Given the description of an element on the screen output the (x, y) to click on. 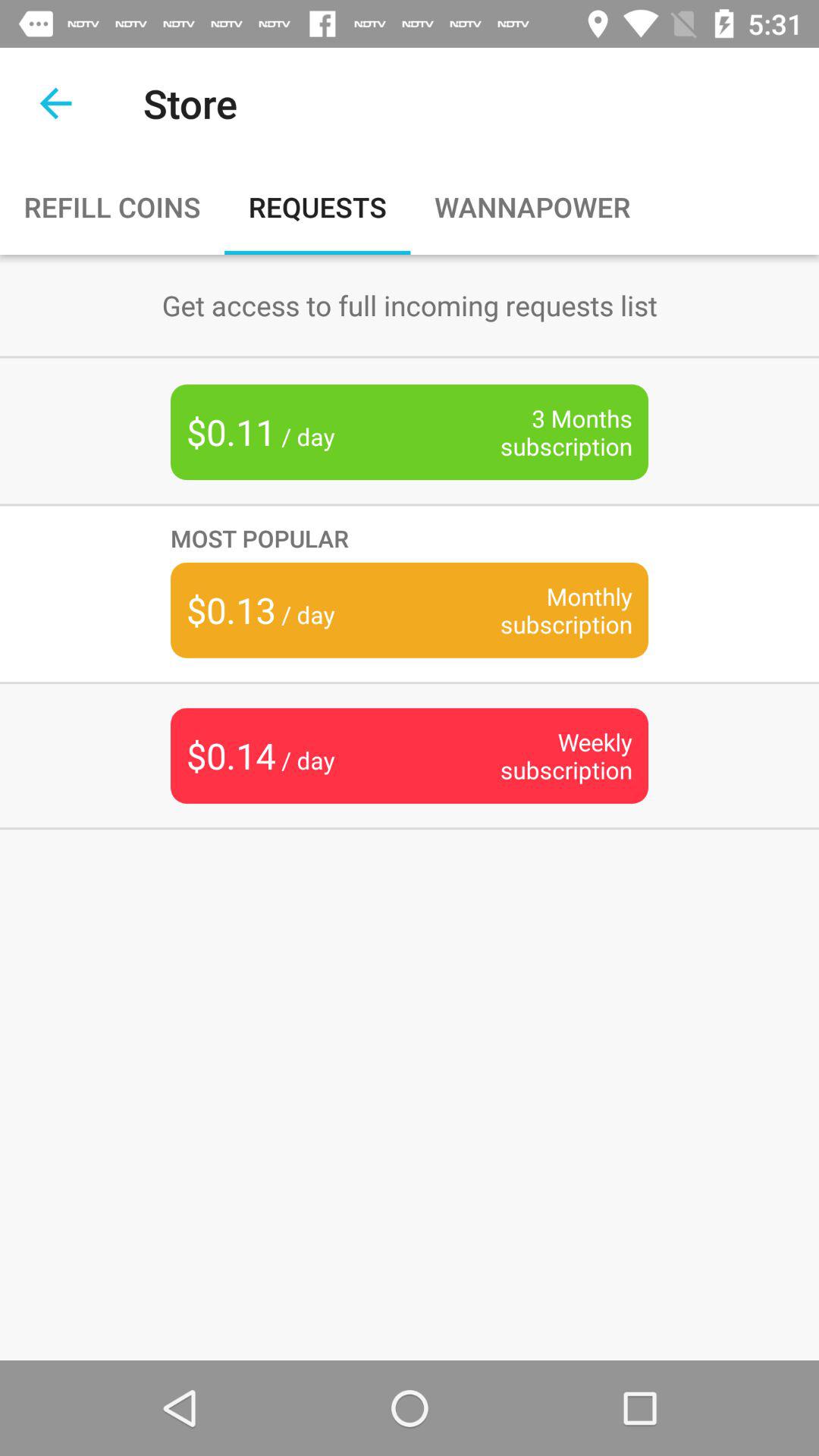
tap the icon next to store item (55, 103)
